Given the description of an element on the screen output the (x, y) to click on. 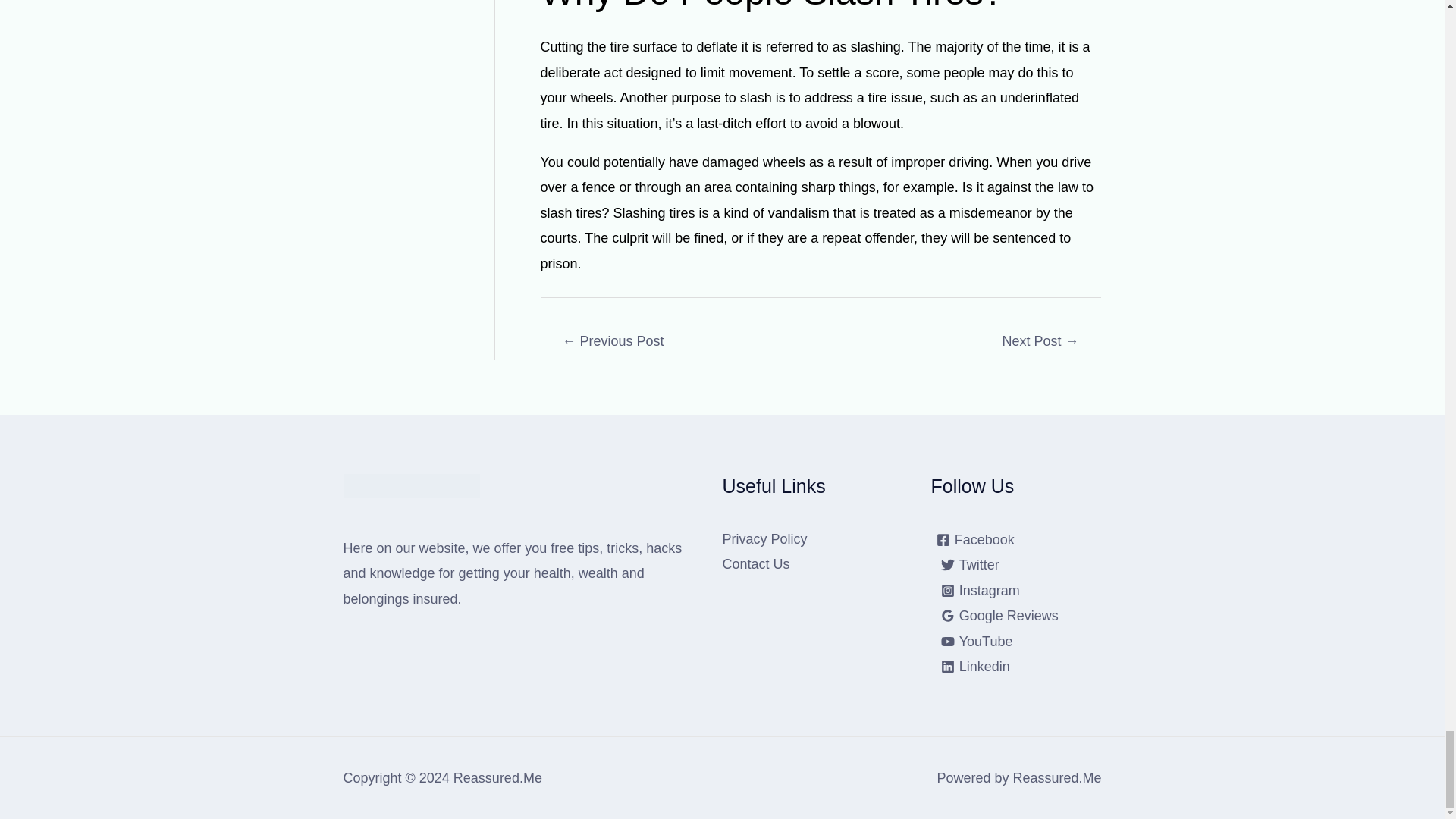
Facebook (975, 540)
Google Reviews (1000, 615)
Privacy Policy (764, 539)
Contact Us (755, 563)
Linkedin (975, 666)
Do I Need Insurance To Sell Cakes From Home? (1040, 342)
What Does Edgars Dental Insurance Cover? (612, 342)
YouTube (976, 641)
Instagram (980, 590)
Twitter (970, 564)
